Given the description of an element on the screen output the (x, y) to click on. 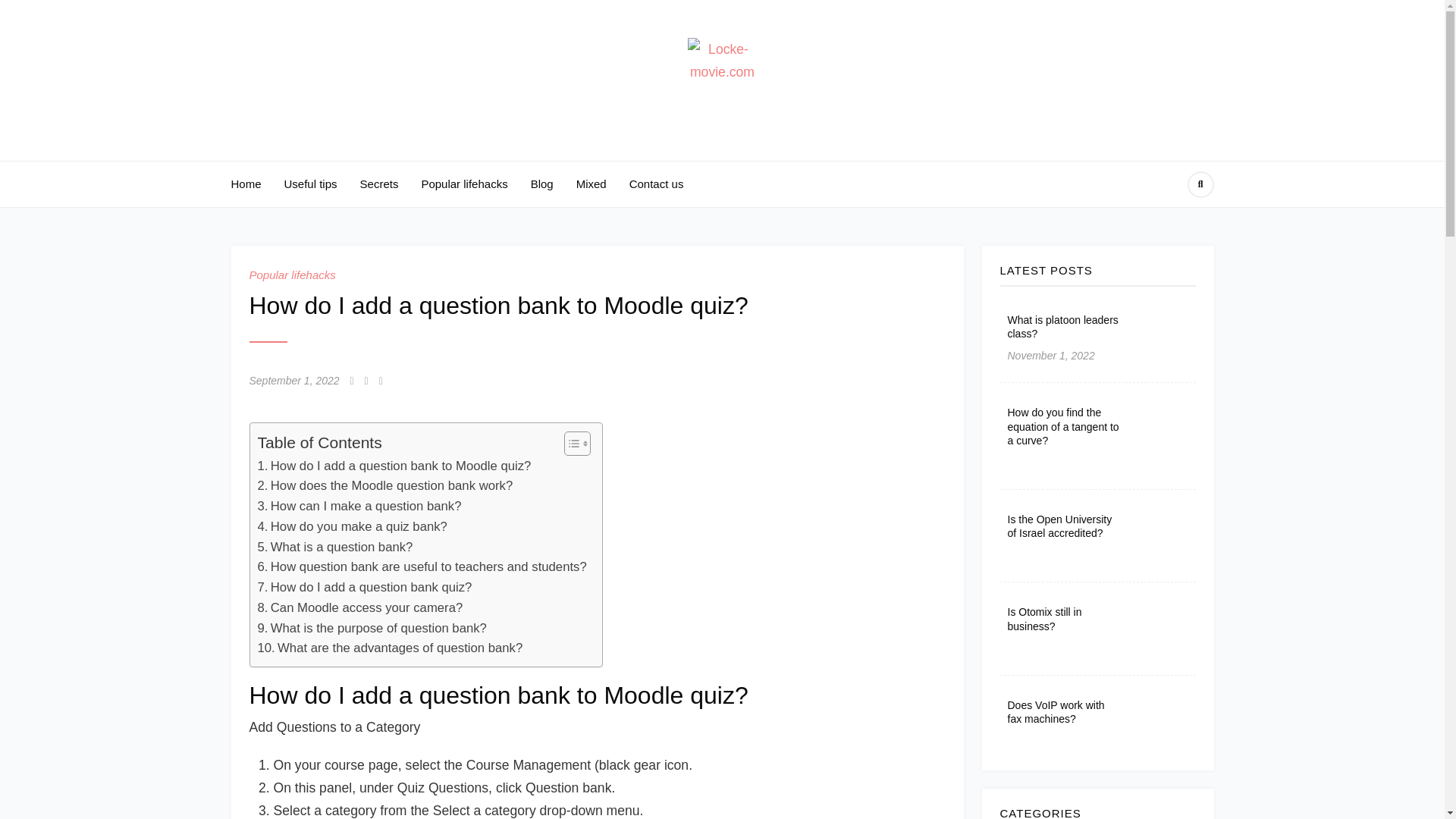
How do I add a question bank to Moodle quiz? (394, 466)
What is the purpose of question bank? (371, 629)
Contact us (656, 184)
September 1, 2022 (293, 380)
What are the advantages of question bank? (389, 648)
Can Moodle access your camera? (360, 608)
How question bank are useful to teachers and students? (421, 567)
Popular lifehacks (463, 184)
Useful tips (310, 184)
Popular lifehacks (291, 274)
